Given the description of an element on the screen output the (x, y) to click on. 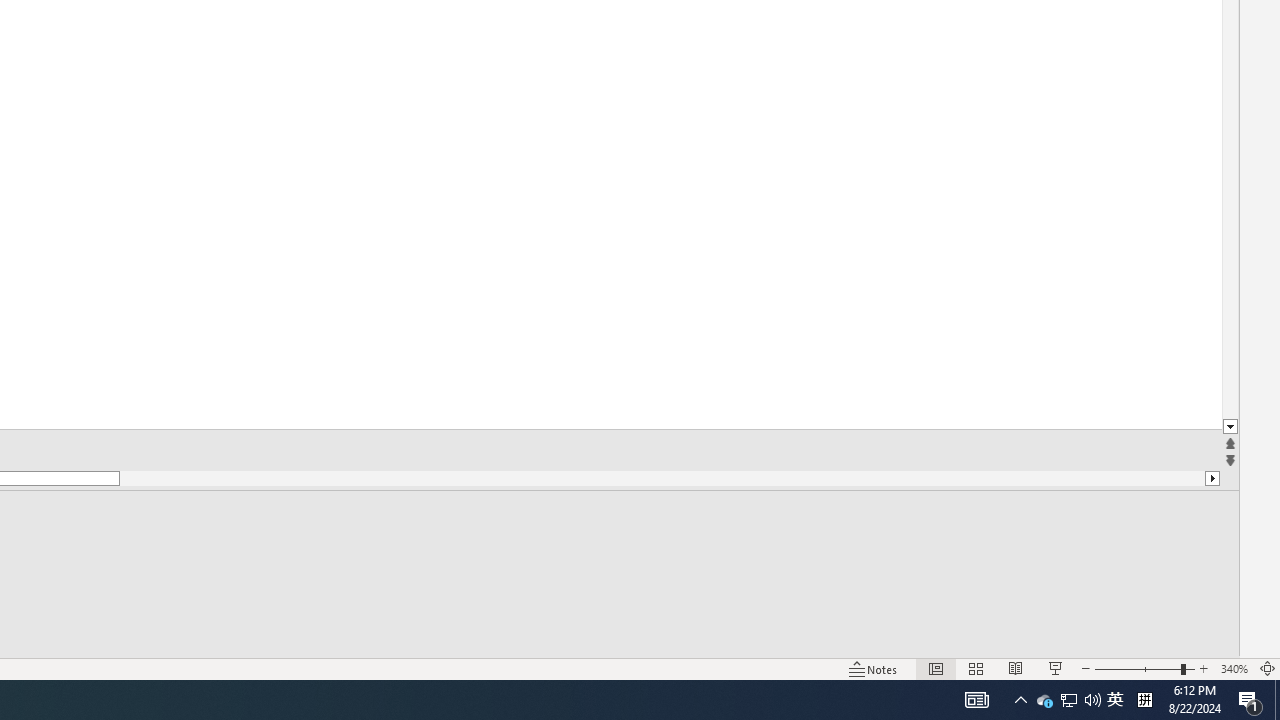
Zoom 340% (1234, 668)
